Given the description of an element on the screen output the (x, y) to click on. 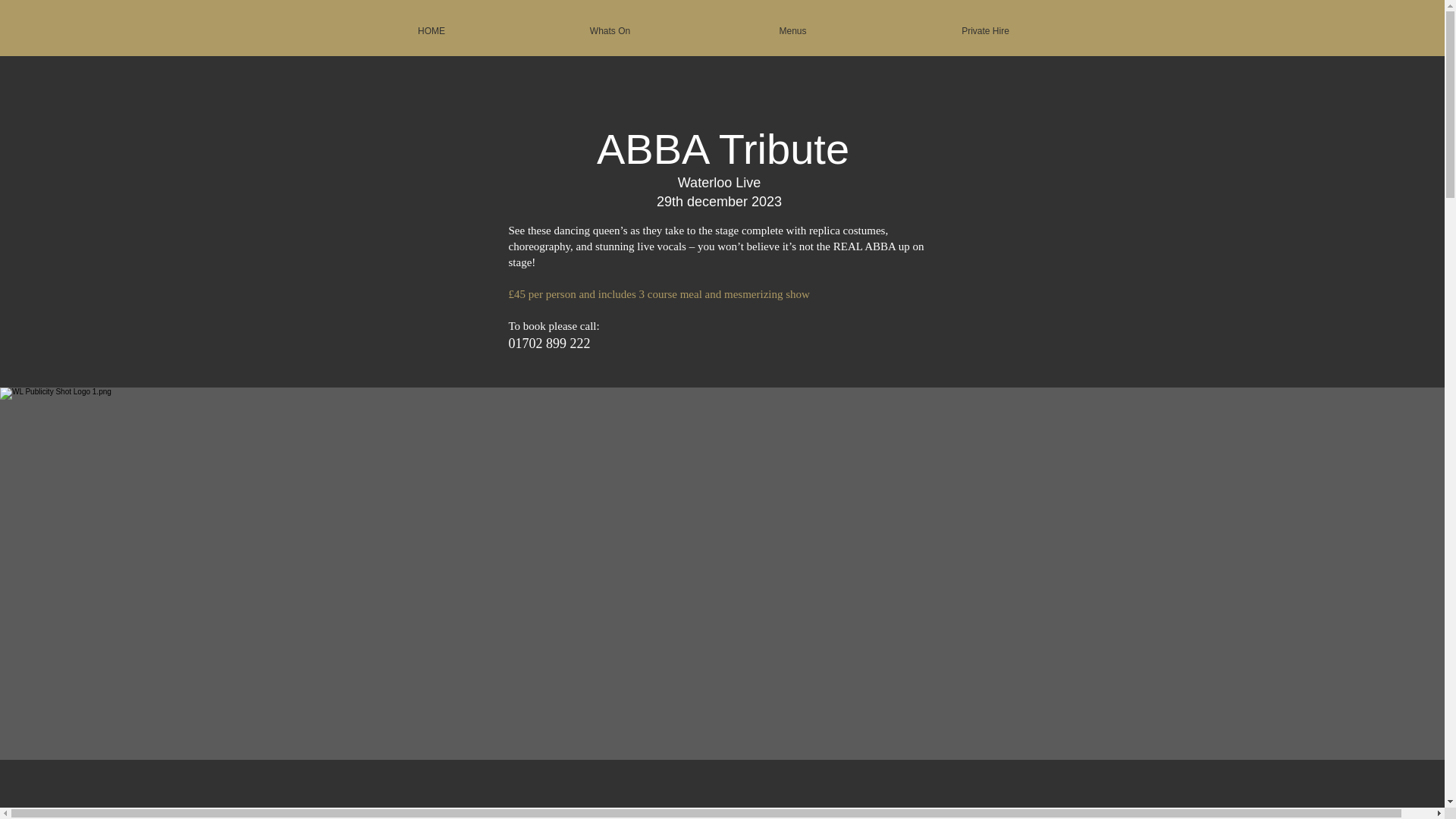
Menus (792, 30)
Whats On (609, 30)
HOME (431, 30)
Private Hire (985, 30)
